Given the description of an element on the screen output the (x, y) to click on. 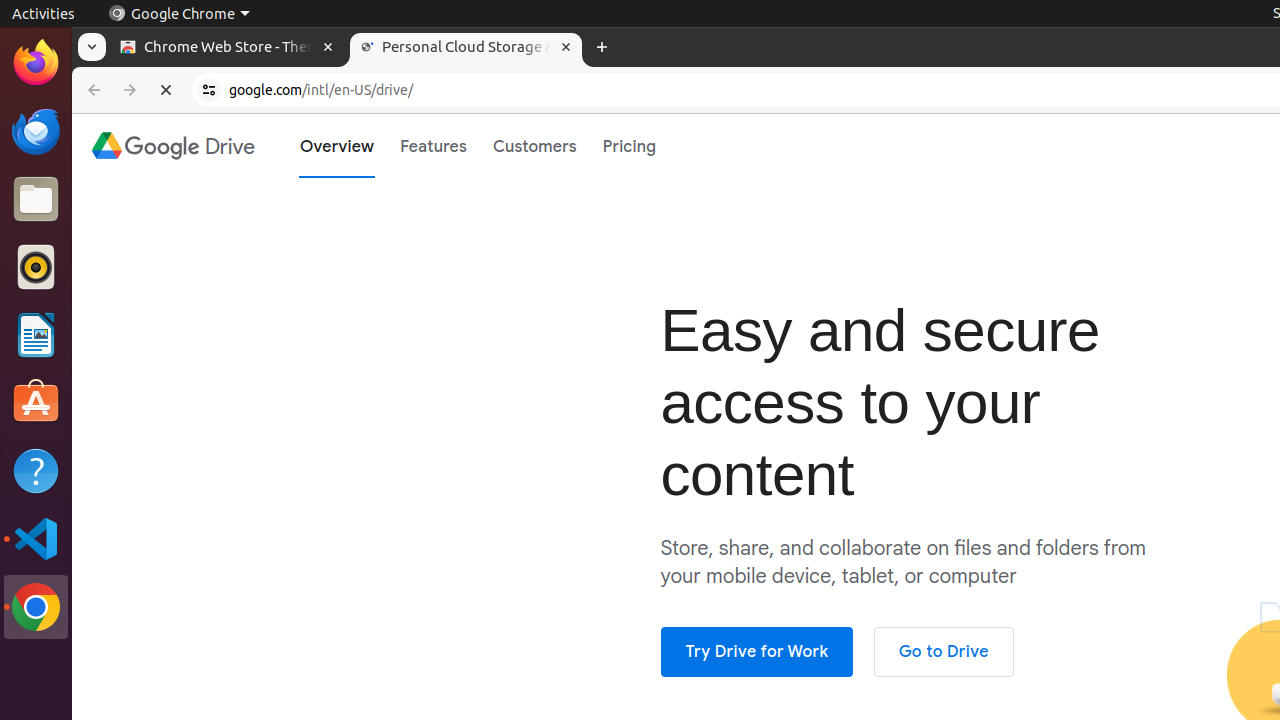
Google Chrome Element type: menu (179, 13)
Files Element type: push-button (36, 199)
New Tab Element type: push-button (602, 47)
Ubuntu Software Element type: push-button (36, 402)
